Given the description of an element on the screen output the (x, y) to click on. 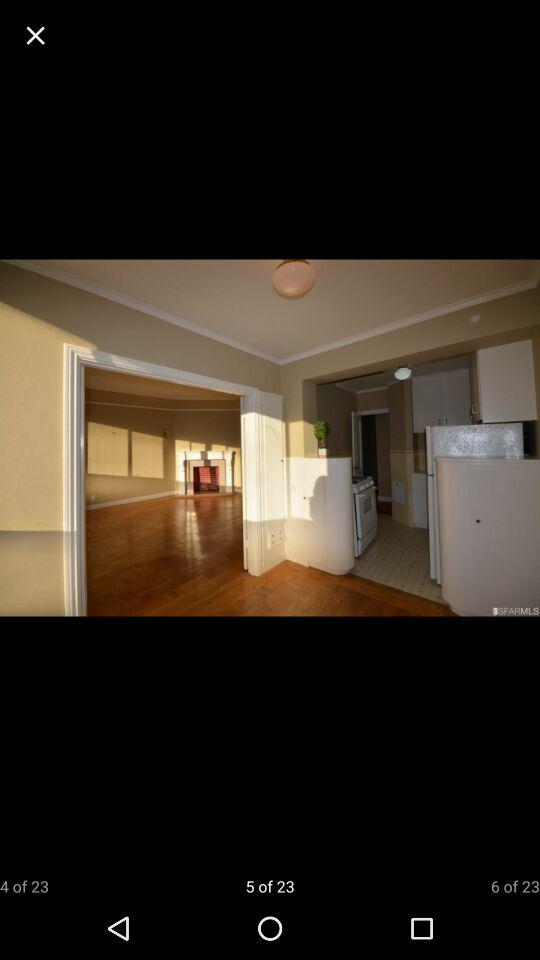
launch the app above the 4 of 23 icon (35, 35)
